Given the description of an element on the screen output the (x, y) to click on. 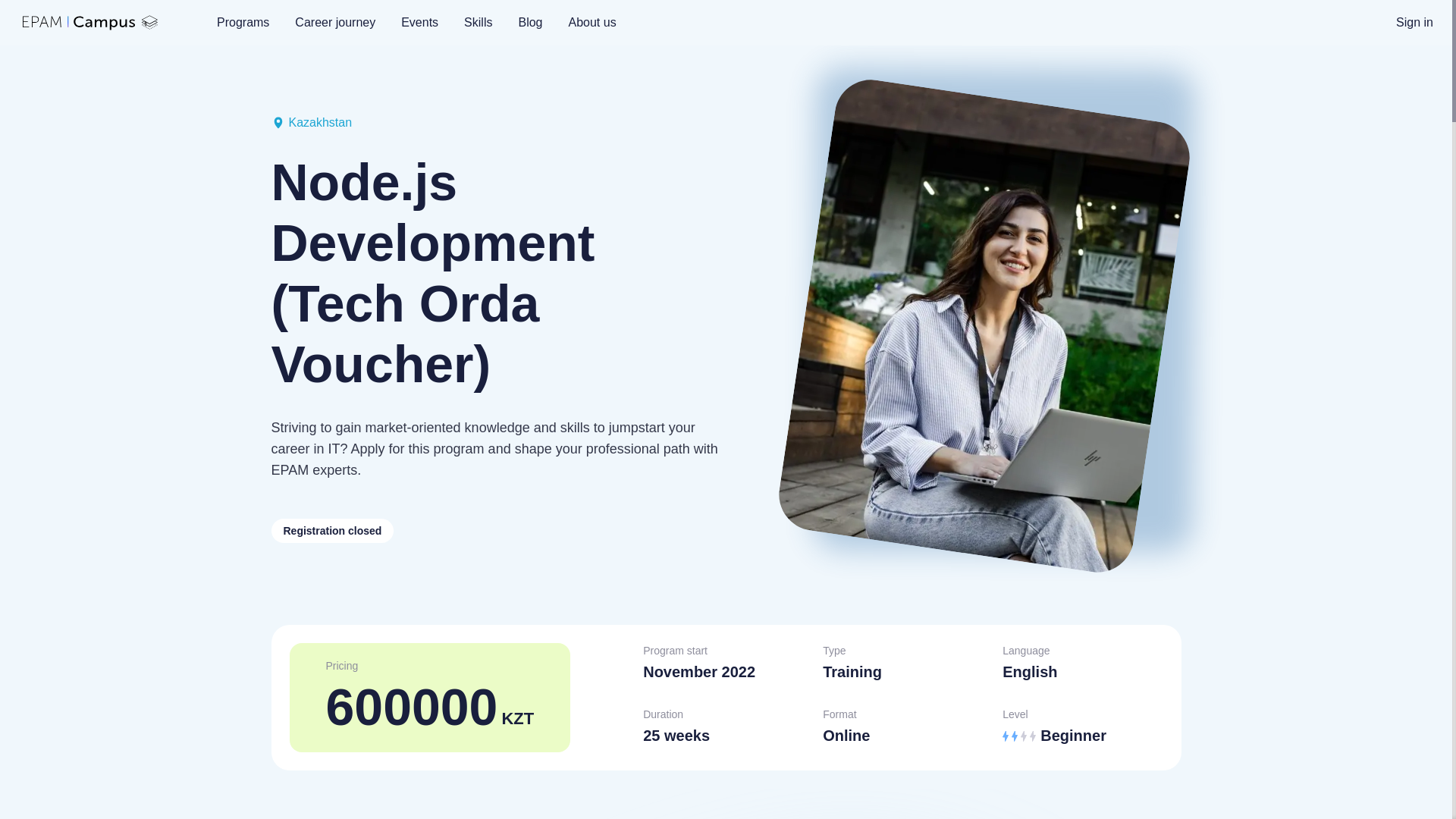
Career journey (335, 22)
About us (591, 22)
Programs (242, 22)
Blog (529, 22)
Skills (478, 22)
Events (419, 22)
